Given the description of an element on the screen output the (x, y) to click on. 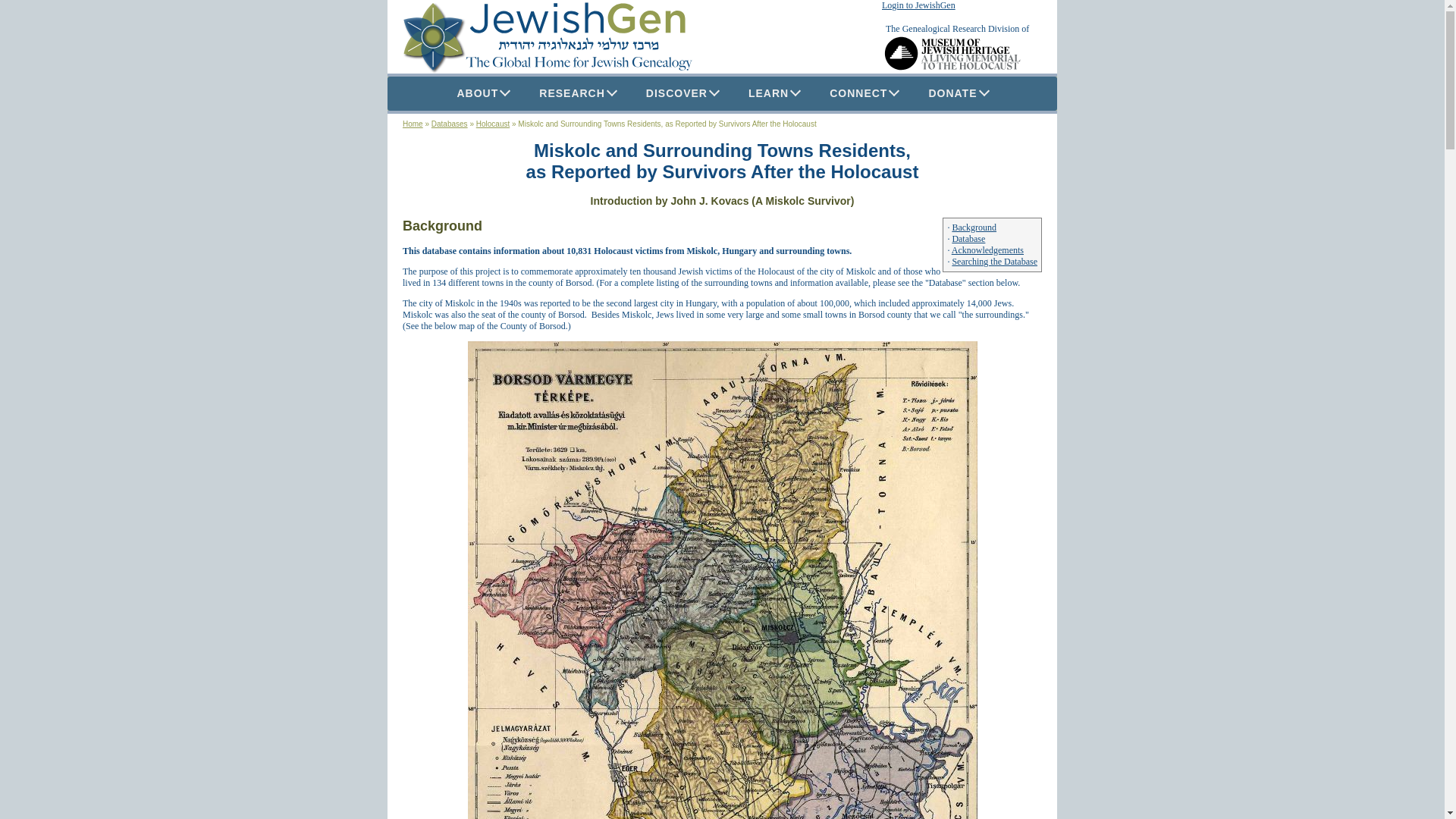
Database (968, 238)
Login to JewishGen (918, 5)
Home (413, 123)
Background (973, 226)
JewishGen Home Page (547, 36)
Holocaust (492, 123)
Searching the Database (994, 261)
Acknowledgements (987, 249)
Databases (448, 123)
